Given the description of an element on the screen output the (x, y) to click on. 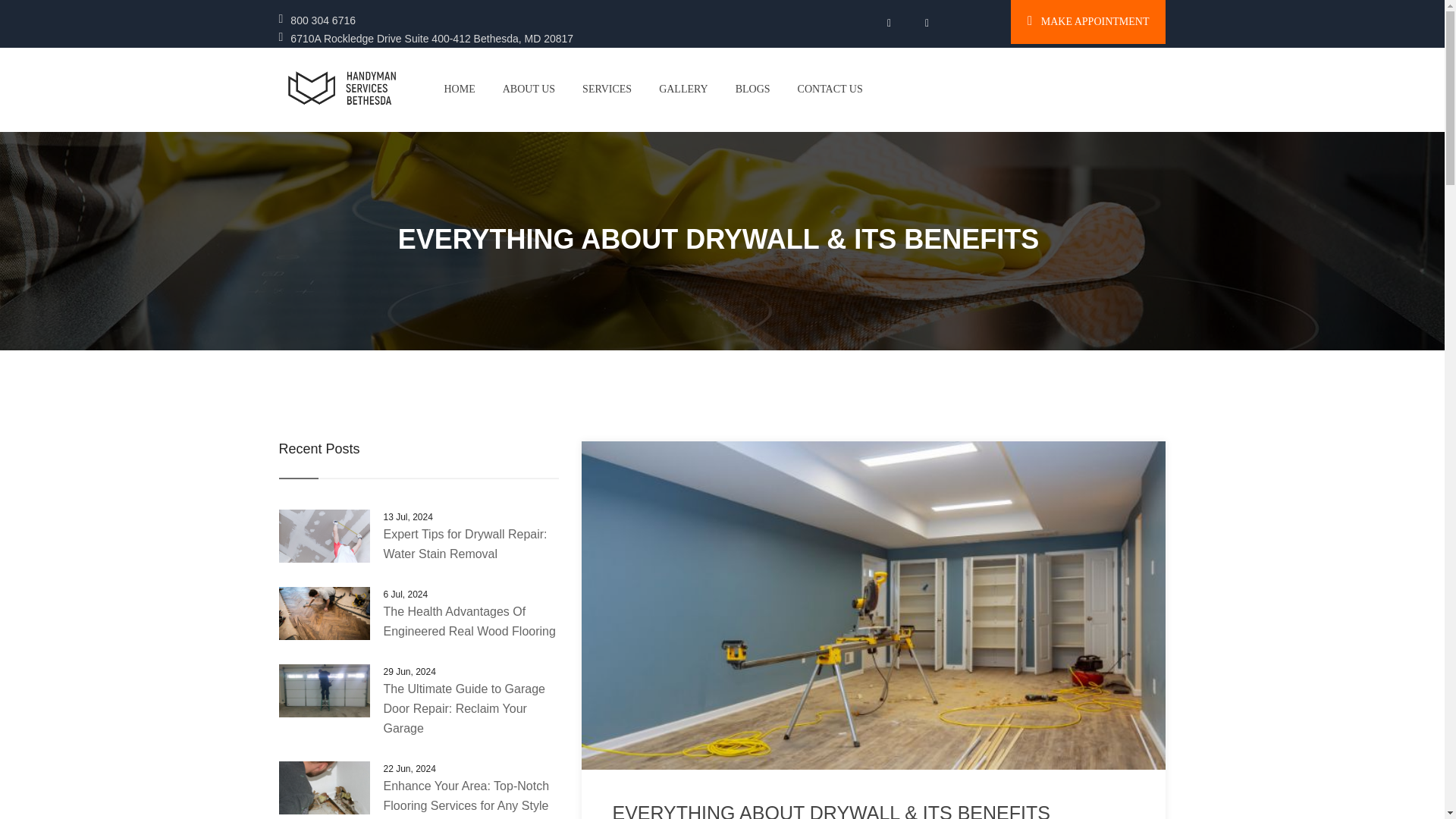
GALLERY (683, 89)
The Health Advantages Of Engineered Real Wood Flooring (470, 621)
SERVICES (607, 89)
800 304 6716 (322, 20)
ABOUT US (529, 89)
Contact Us (830, 89)
MAKE APPOINTMENT (1088, 22)
About Us (529, 89)
Services (607, 89)
CONTACT US (830, 89)
Gallery (683, 89)
Expert Tips for Drywall Repair: Water Stain Removal (465, 543)
